Given the description of an element on the screen output the (x, y) to click on. 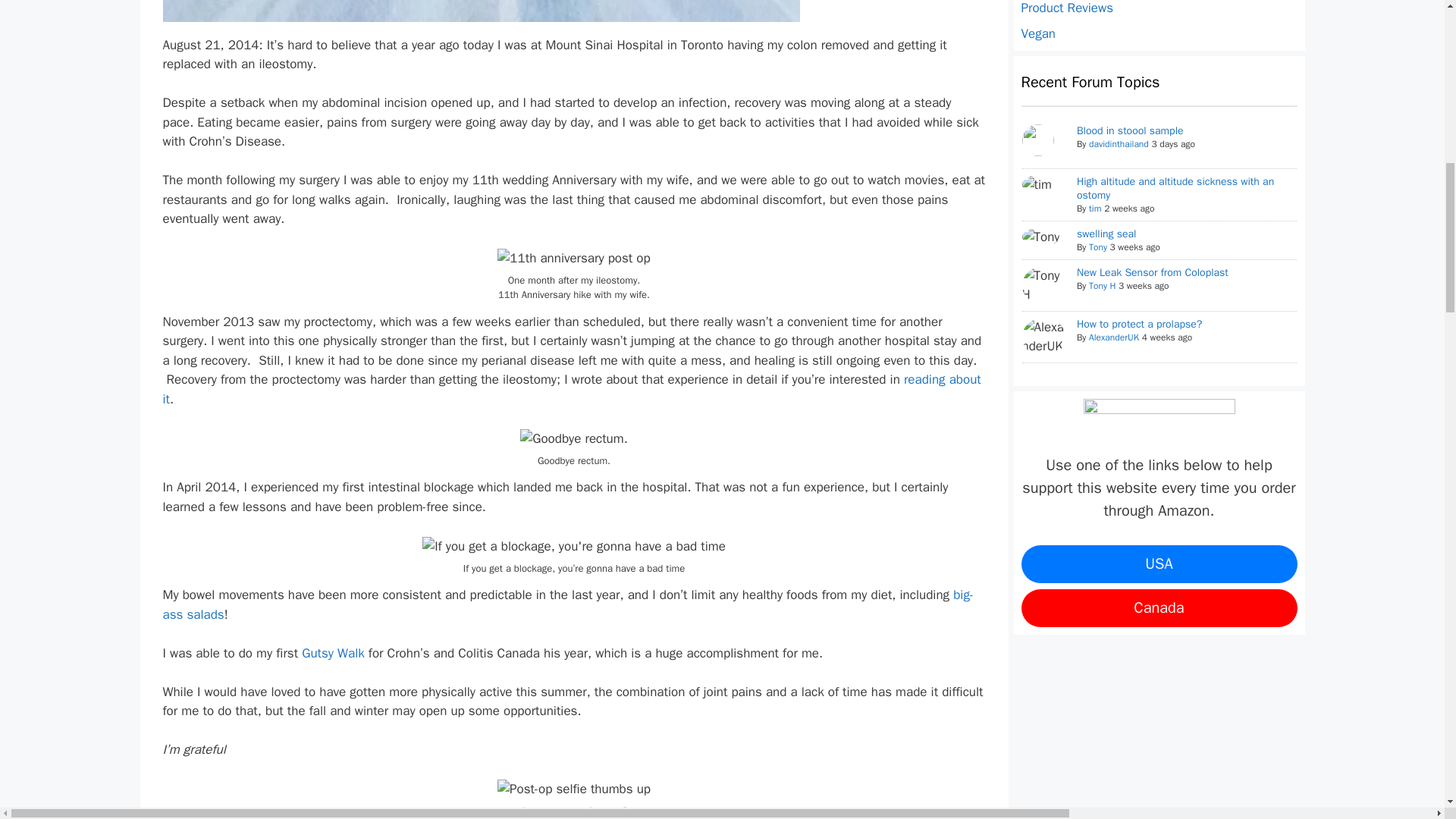
Tony (1097, 246)
tim (1036, 184)
Tony (1040, 237)
swelling seal (1107, 233)
Tony H (1043, 285)
davidinthailand (1118, 143)
tim (1095, 208)
High altitude and altitude sickness with an ostomy (1175, 188)
Blood in stoool sample (1130, 130)
New Leak Sensor from Coloplast (1152, 272)
